Given the description of an element on the screen output the (x, y) to click on. 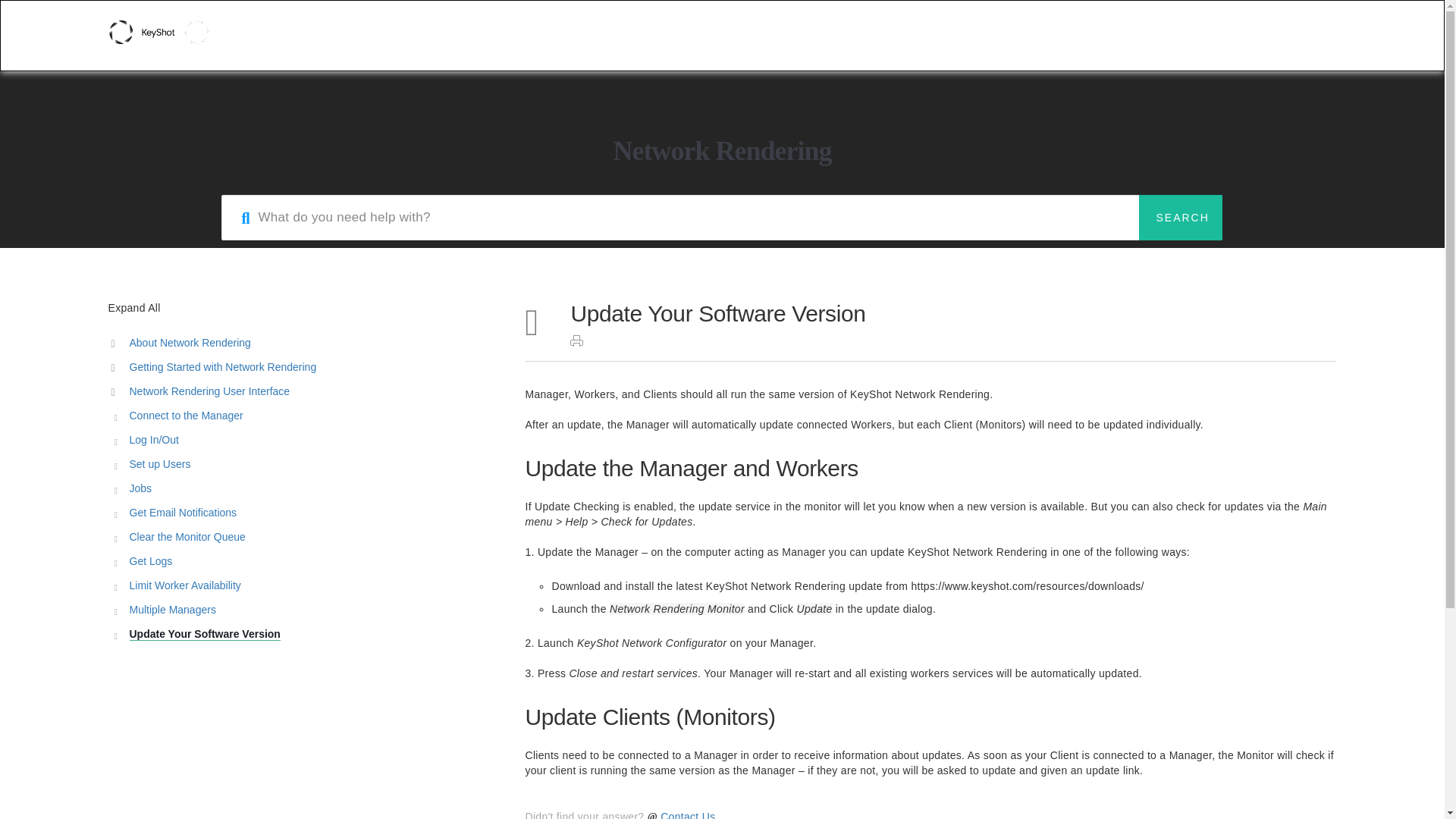
Get Logs (297, 561)
Multiple Managers (297, 609)
Getting Started with Network Rendering (297, 367)
Network Rendering User Interface (297, 392)
Set up Users (297, 465)
Contact Us (687, 814)
Clear the Monitor Queue (297, 537)
Search (1180, 217)
Jobs (297, 488)
Limit Worker Availability (297, 586)
